Given the description of an element on the screen output the (x, y) to click on. 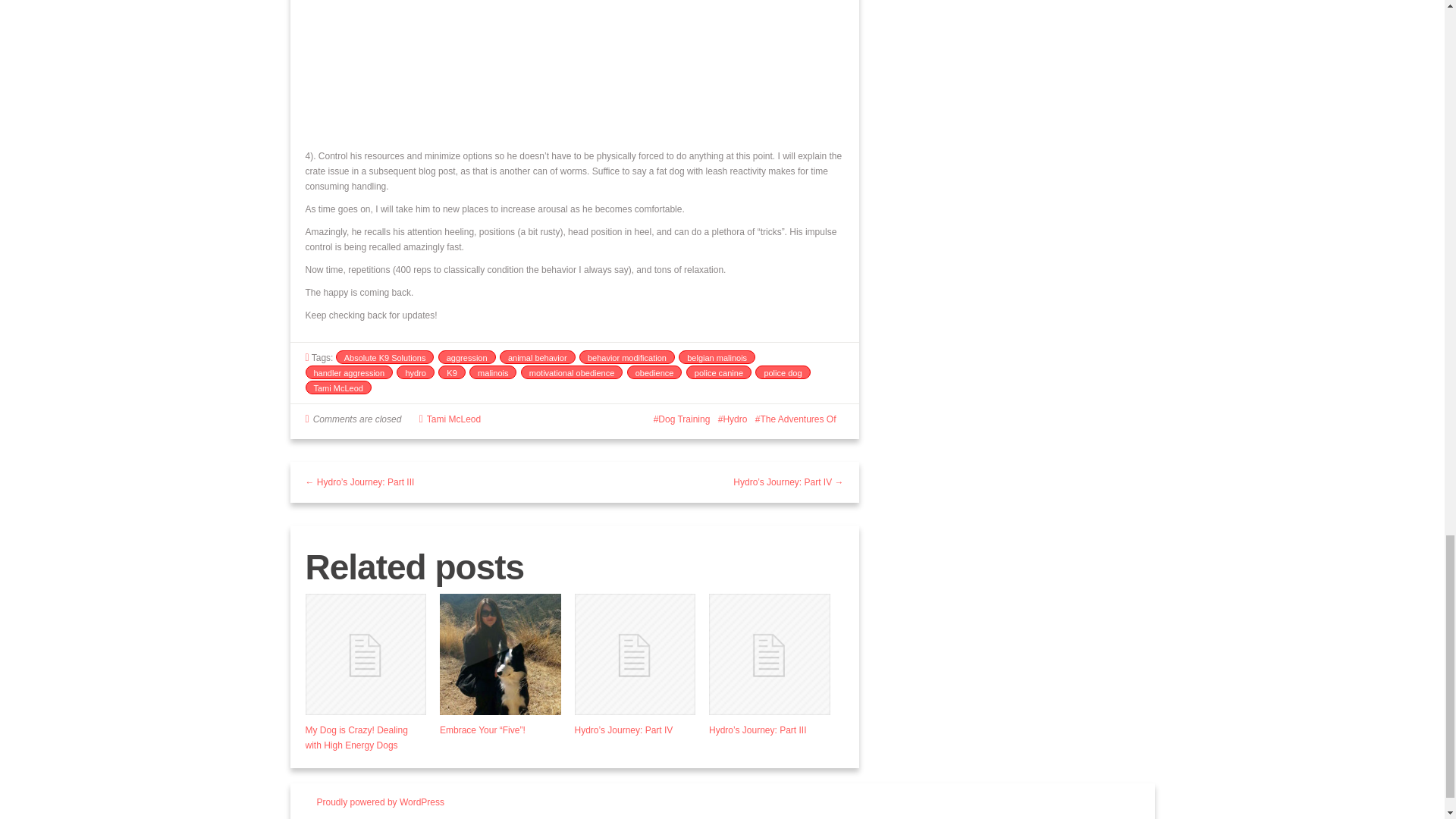
My Dog is Crazy! Dealing with High Energy Dogs (355, 737)
Tami McLeod (337, 386)
handler aggression (348, 372)
behavior modification (627, 356)
obedience (654, 372)
police canine (718, 372)
Dog Training (681, 419)
aggression (467, 356)
Absolute K9 Solutions (384, 356)
motivational obedience (572, 372)
Posts by Tami McLeod (453, 419)
hydro (414, 372)
police dog (782, 372)
Tami McLeod (453, 419)
The Adventures Of (795, 419)
